Given the description of an element on the screen output the (x, y) to click on. 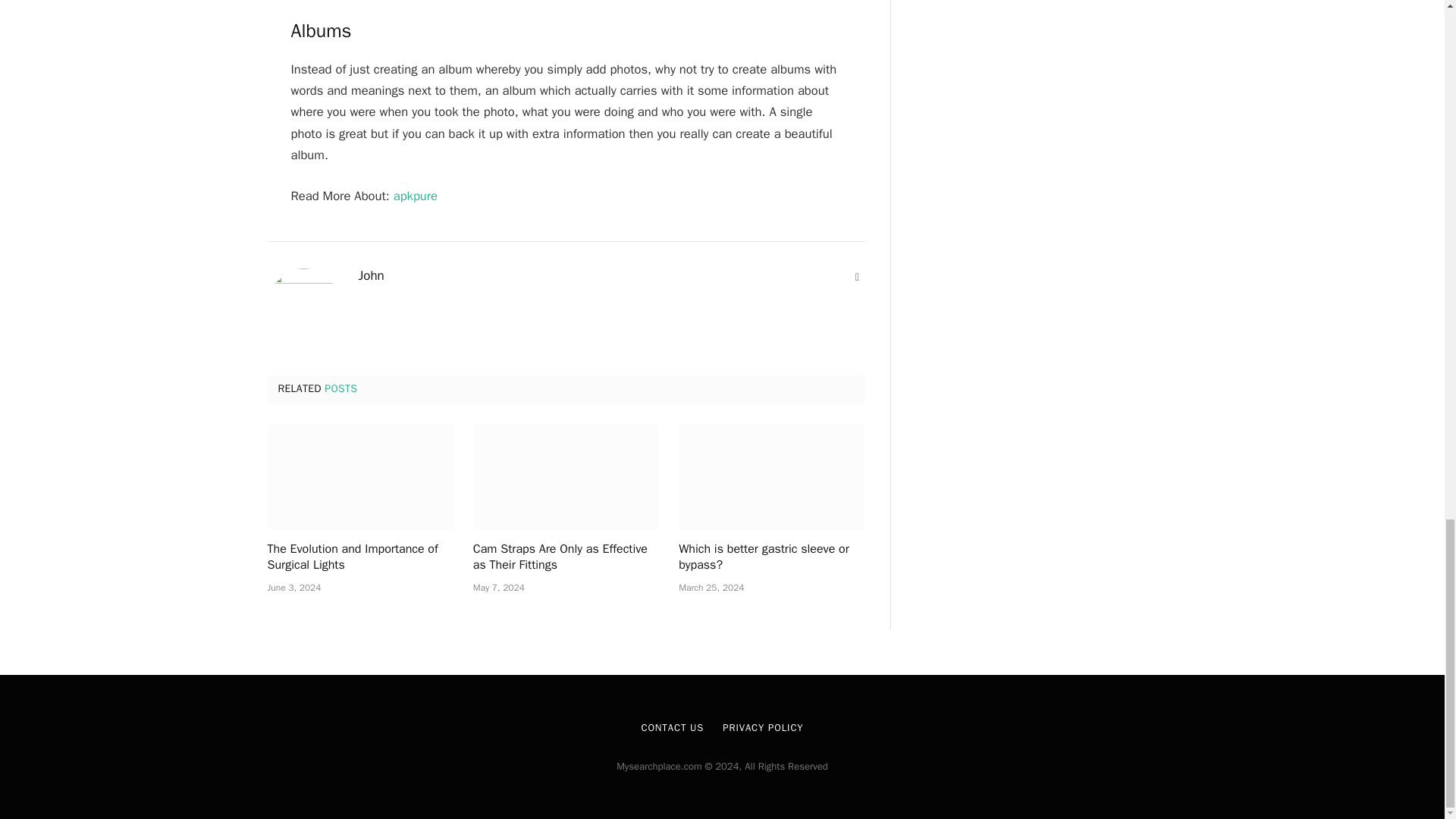
Posts by John (371, 275)
The Evolution and Importance of Surgical Lights (359, 557)
Website (856, 277)
Cam Straps Are Only as Effective as Their Fittings (566, 477)
John (371, 275)
Website (856, 277)
Cam Straps Are Only as Effective as Their Fittings (566, 557)
apkpure (415, 195)
The Evolution and Importance of Surgical Lights (359, 477)
Which is better gastric sleeve or bypass? (771, 477)
